Given the description of an element on the screen output the (x, y) to click on. 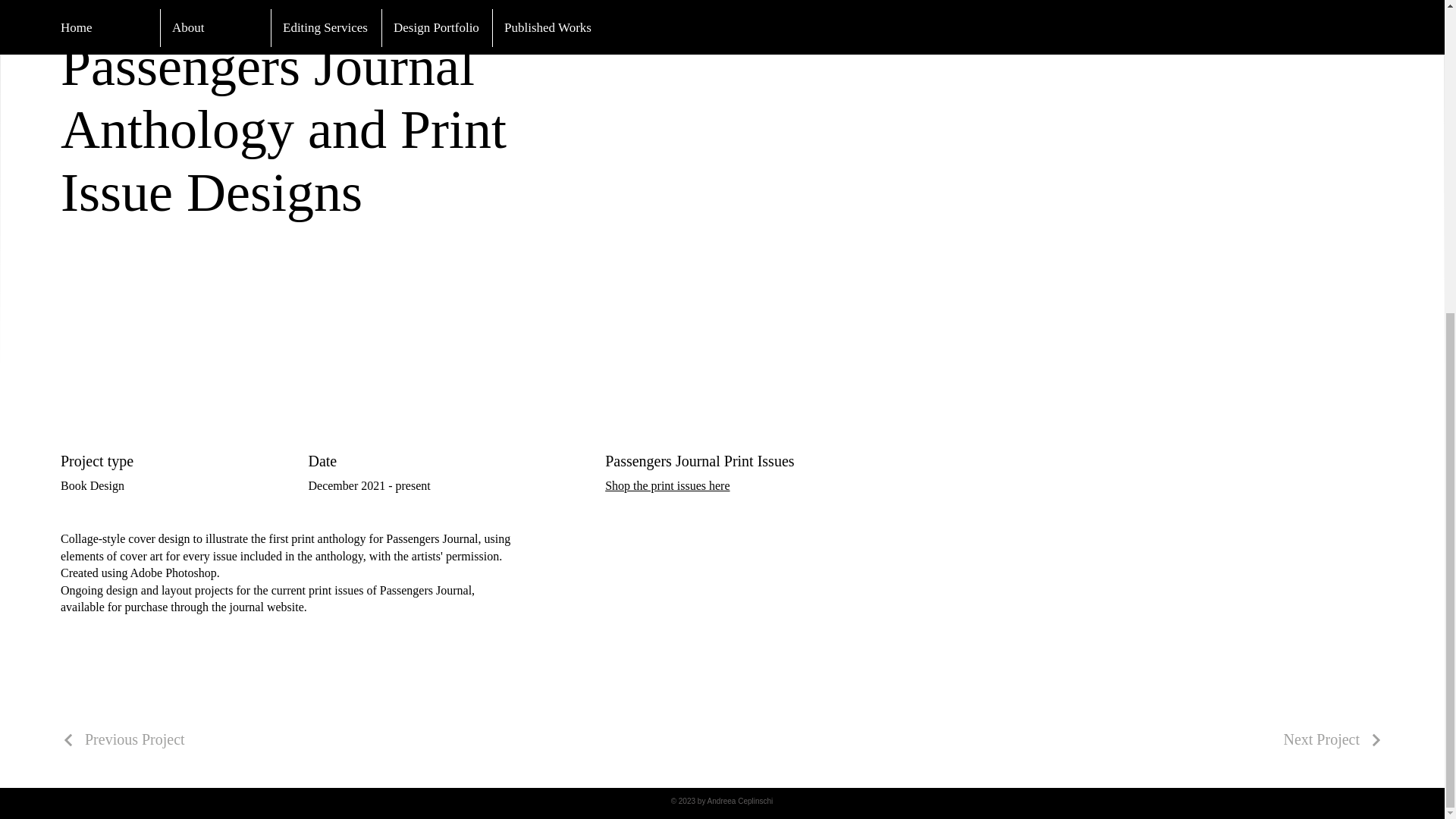
Next Project (1333, 739)
Previous Project (122, 739)
Shop the print issues here (667, 485)
